Given the description of an element on the screen output the (x, y) to click on. 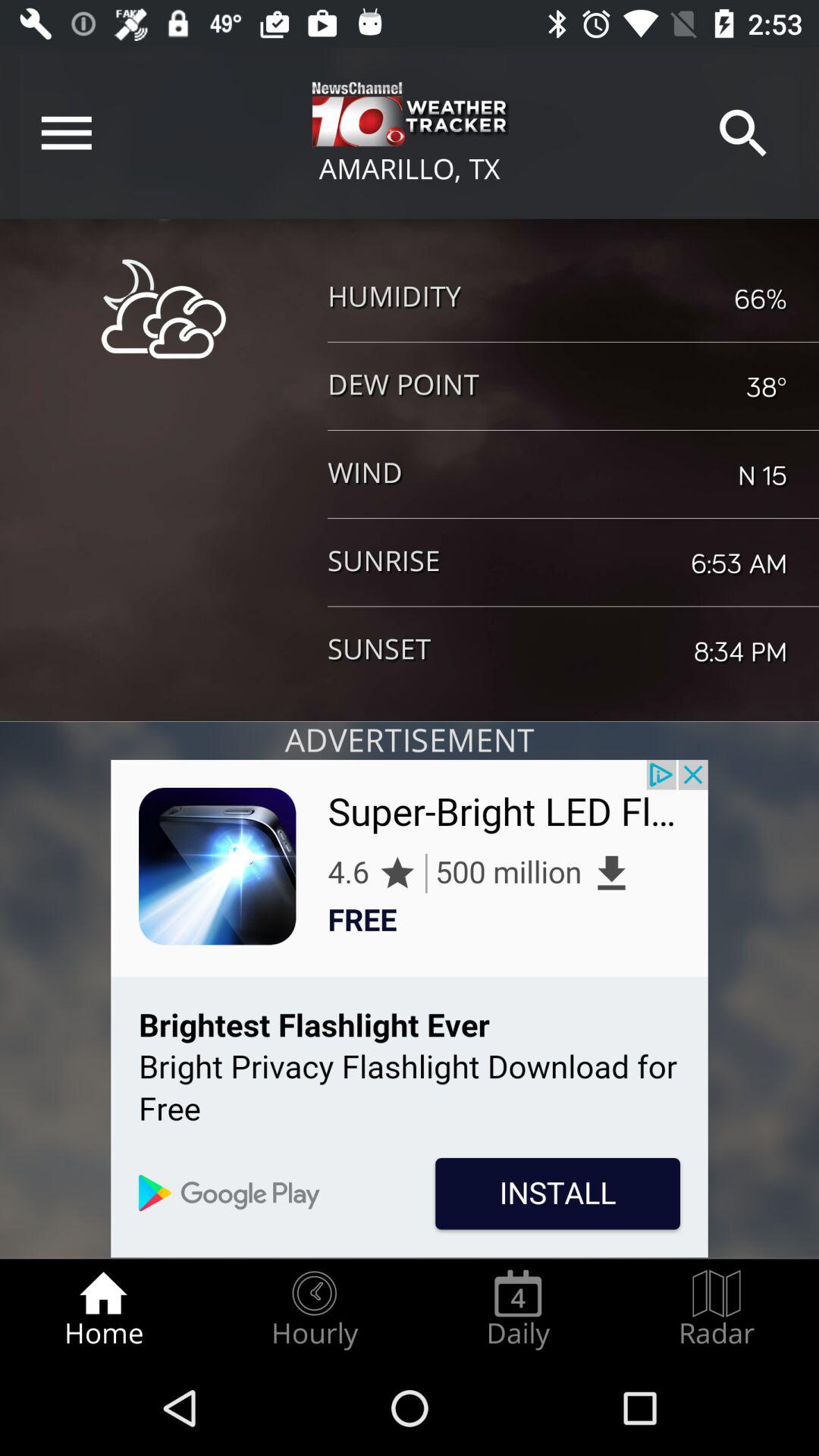
turn off the daily (518, 1309)
